Given the description of an element on the screen output the (x, y) to click on. 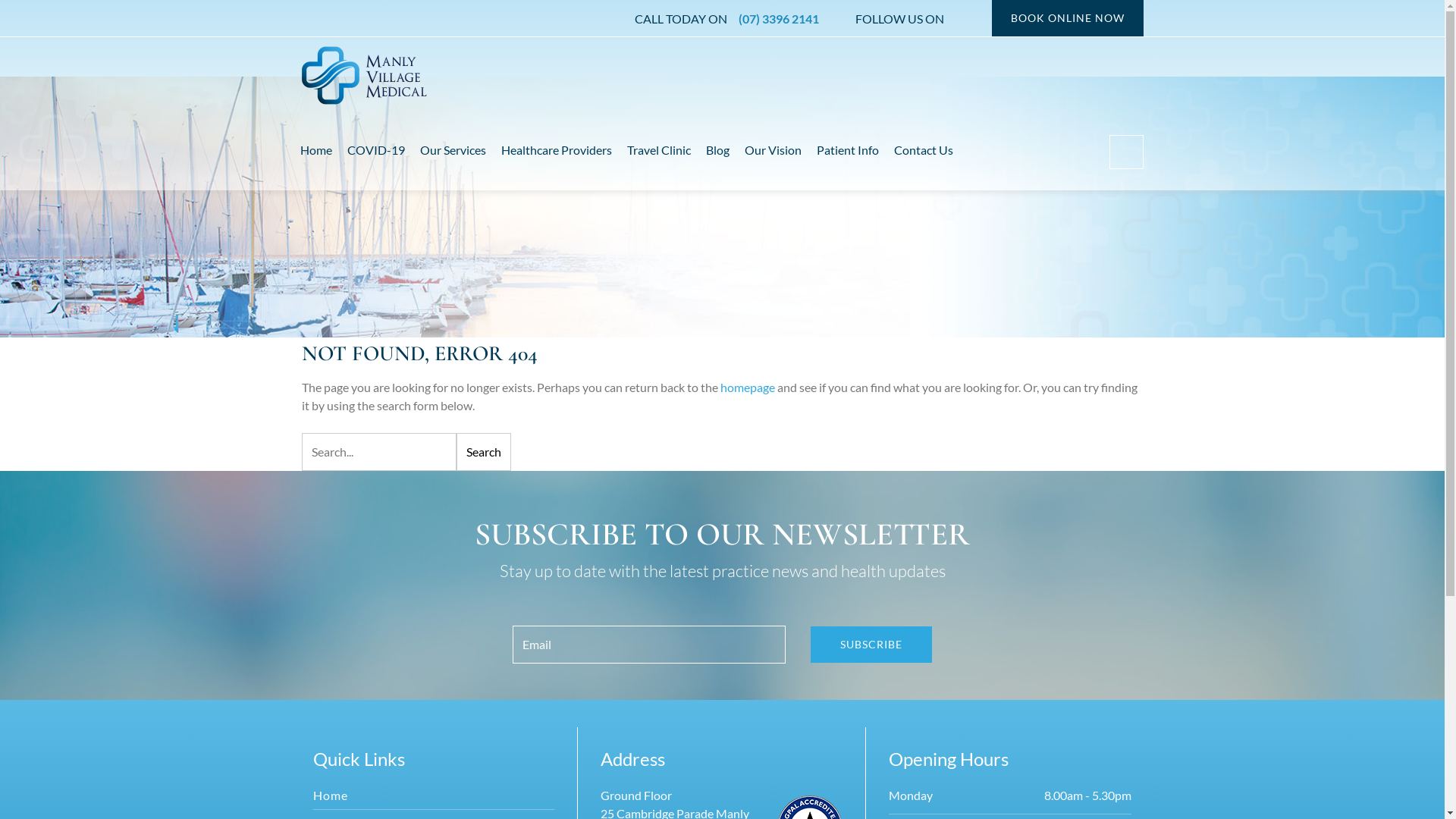
BOOK ONLINE NOW Element type: text (1067, 18)
Home Element type: text (315, 149)
Contact Us Element type: text (922, 149)
Home Element type: text (329, 794)
Our Vision Element type: text (773, 149)
Blog Element type: text (716, 149)
homepage Element type: text (747, 386)
Travel Clinic Element type: text (657, 149)
Our Services Element type: text (452, 149)
Patient Info Element type: text (846, 149)
SUBSCRIBE Element type: text (870, 644)
Search Element type: text (27, 18)
Search Element type: text (483, 451)
COVID-19 Element type: text (375, 149)
Manly Village Medical Element type: text (363, 75)
(07) 3396 2141 Element type: text (774, 18)
Healthcare Providers Element type: text (555, 149)
